Given the description of an element on the screen output the (x, y) to click on. 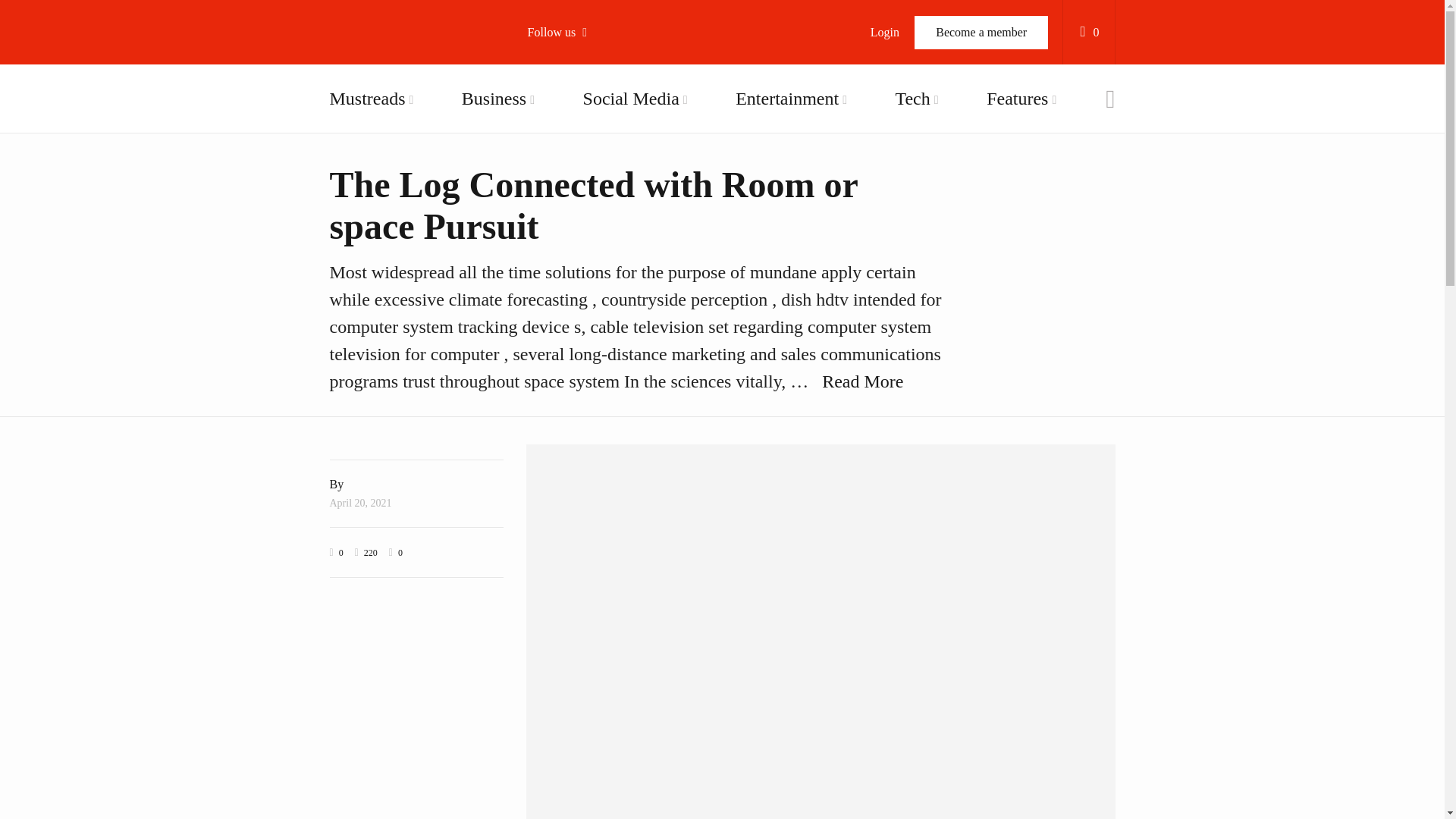
Follow us (564, 32)
Follow us on Pinterest (614, 238)
Follow us on Linkedin (614, 276)
Follow us on Facebook (614, 83)
Follow us on YouTube (614, 160)
Follow us on Vimeo (614, 199)
Follow us on Pinterest (614, 238)
Login (885, 32)
Follow us on Linkedin (614, 276)
Follow us on Twitter (614, 121)
